Given the description of an element on the screen output the (x, y) to click on. 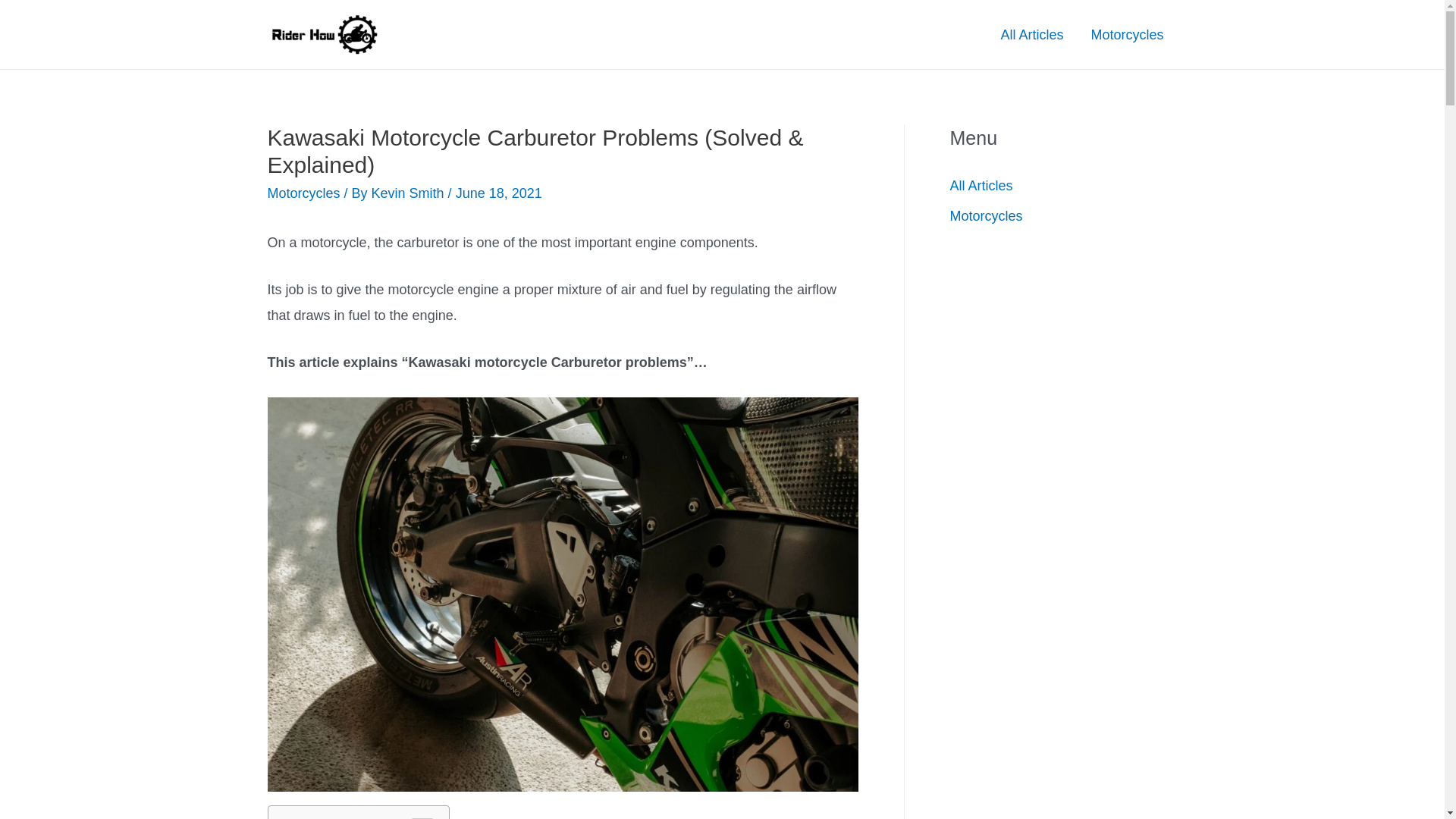
Motorcycles (985, 215)
View all posts by Kevin Smith (409, 192)
Motorcycles (302, 192)
Motorcycles (1126, 33)
All Articles (1032, 33)
Kevin Smith (409, 192)
All Articles (980, 184)
